Given the description of an element on the screen output the (x, y) to click on. 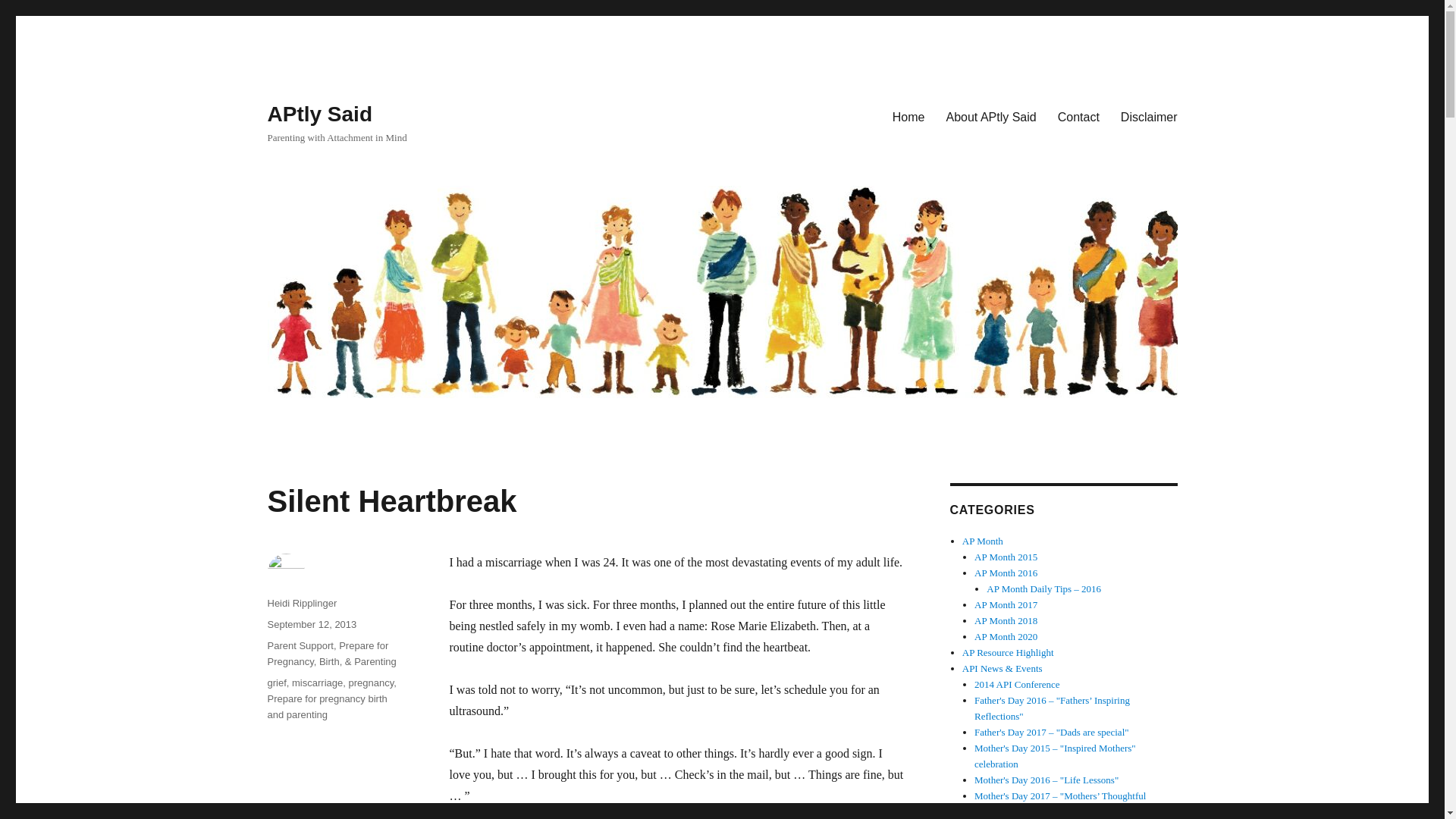
Heidi Ripplinger (301, 603)
Parent Support (299, 645)
Prepare for pregnancy birth and parenting (326, 706)
pregnancy (370, 682)
AP Resource Highlight (1008, 652)
Home (909, 116)
AP Month (982, 541)
AP Month 2016 (1005, 572)
Disclaimer (1148, 116)
AP Month 2017 (1005, 604)
miscarriage (317, 682)
AP Month 2020 (1005, 636)
Contact (1077, 116)
APtly Said (318, 114)
About APtly Said (991, 116)
